Given the description of an element on the screen output the (x, y) to click on. 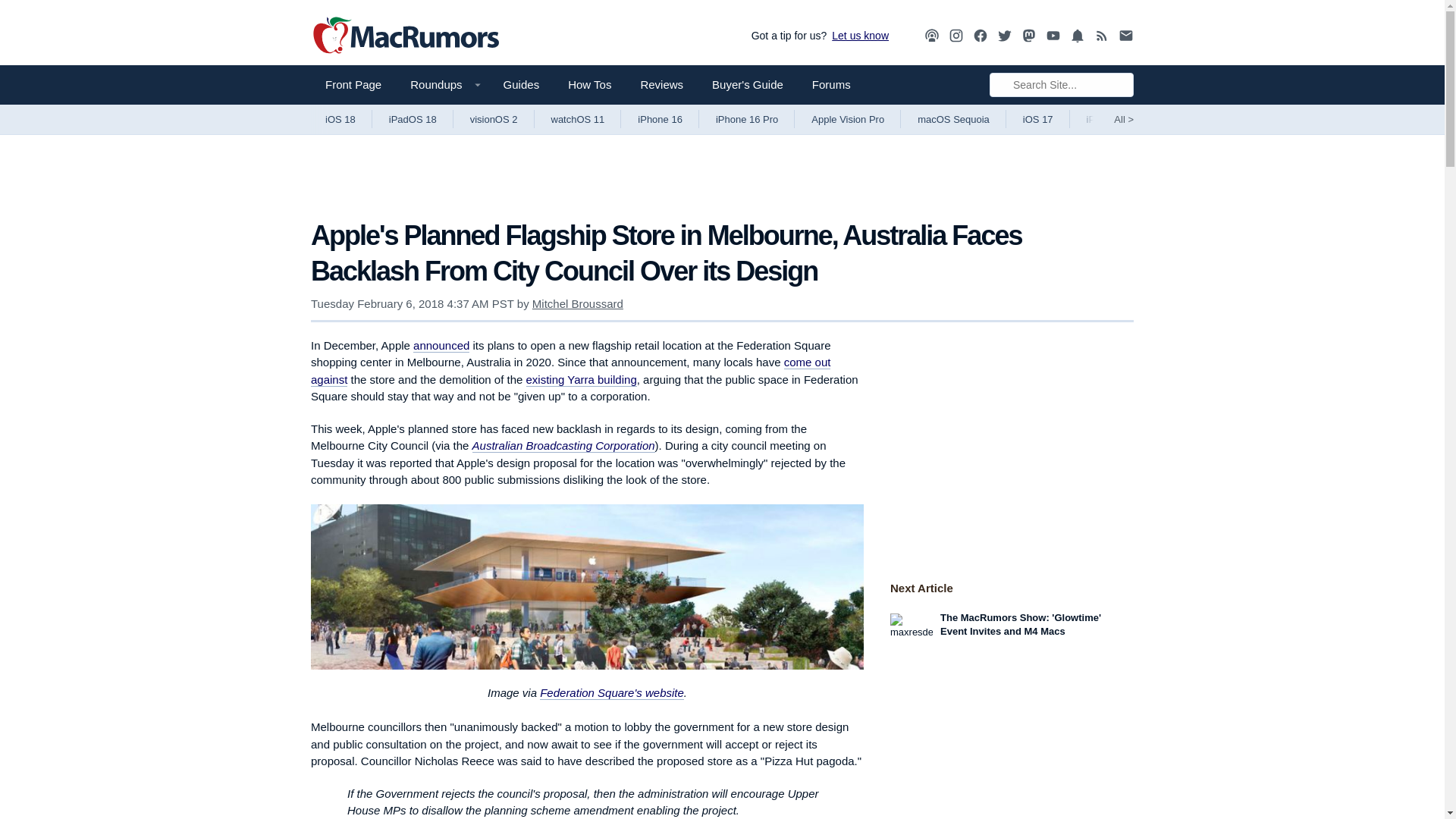
YouTube (1053, 35)
MacRumors Show (931, 35)
MacRumors on Mastodon (1029, 35)
MacRumors Newsletter Signup (1126, 35)
MacRumors YouTube Channel (1053, 35)
RSS (1101, 35)
Facebook (980, 35)
Twitter (1004, 35)
Guides (521, 84)
Notifications (1077, 35)
